Given the description of an element on the screen output the (x, y) to click on. 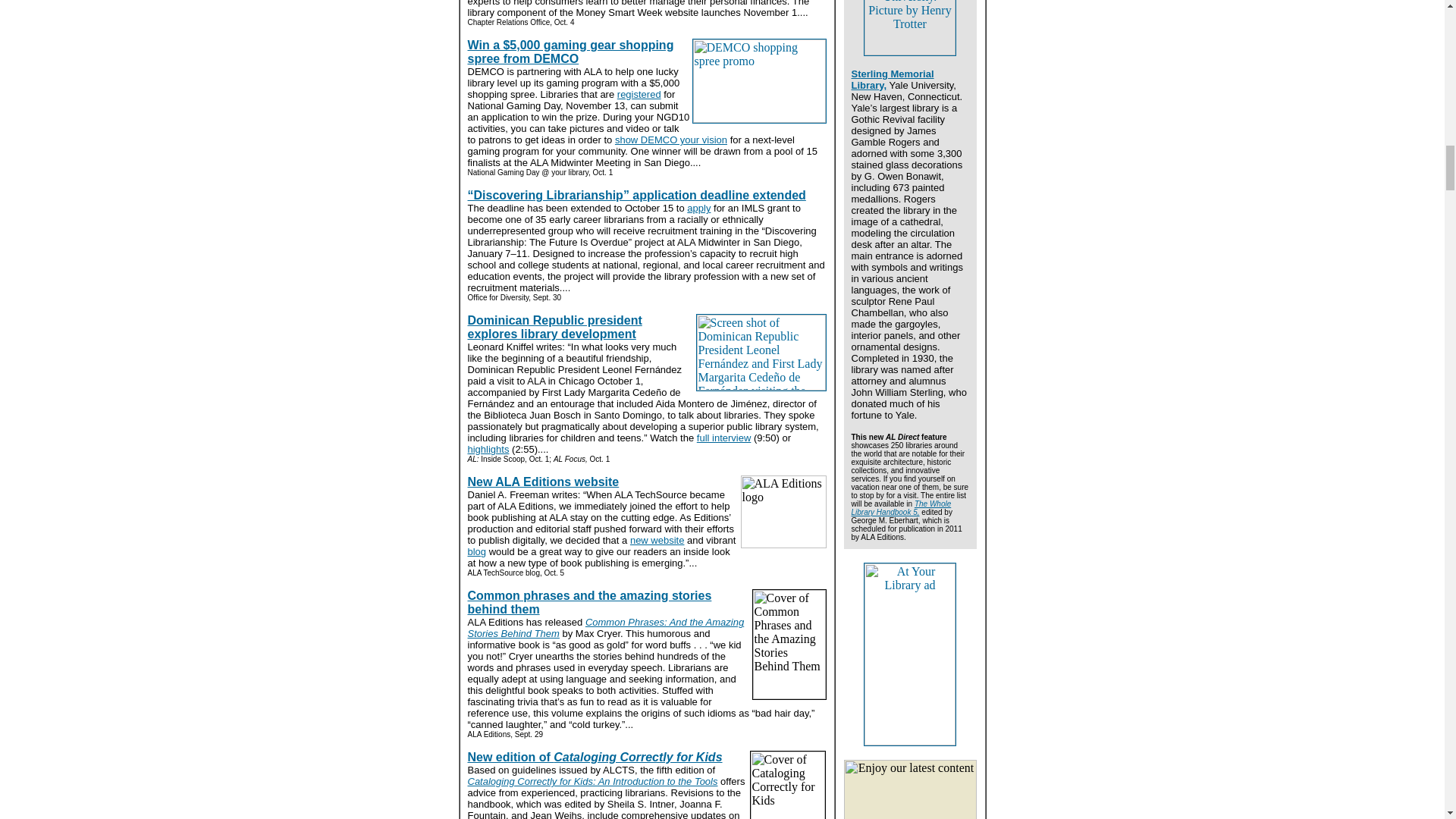
Cover of Cataloging Correctly for Kids (787, 785)
DEMCO shopping spree promo (758, 80)
ALA Editions logo (782, 511)
